Given the description of an element on the screen output the (x, y) to click on. 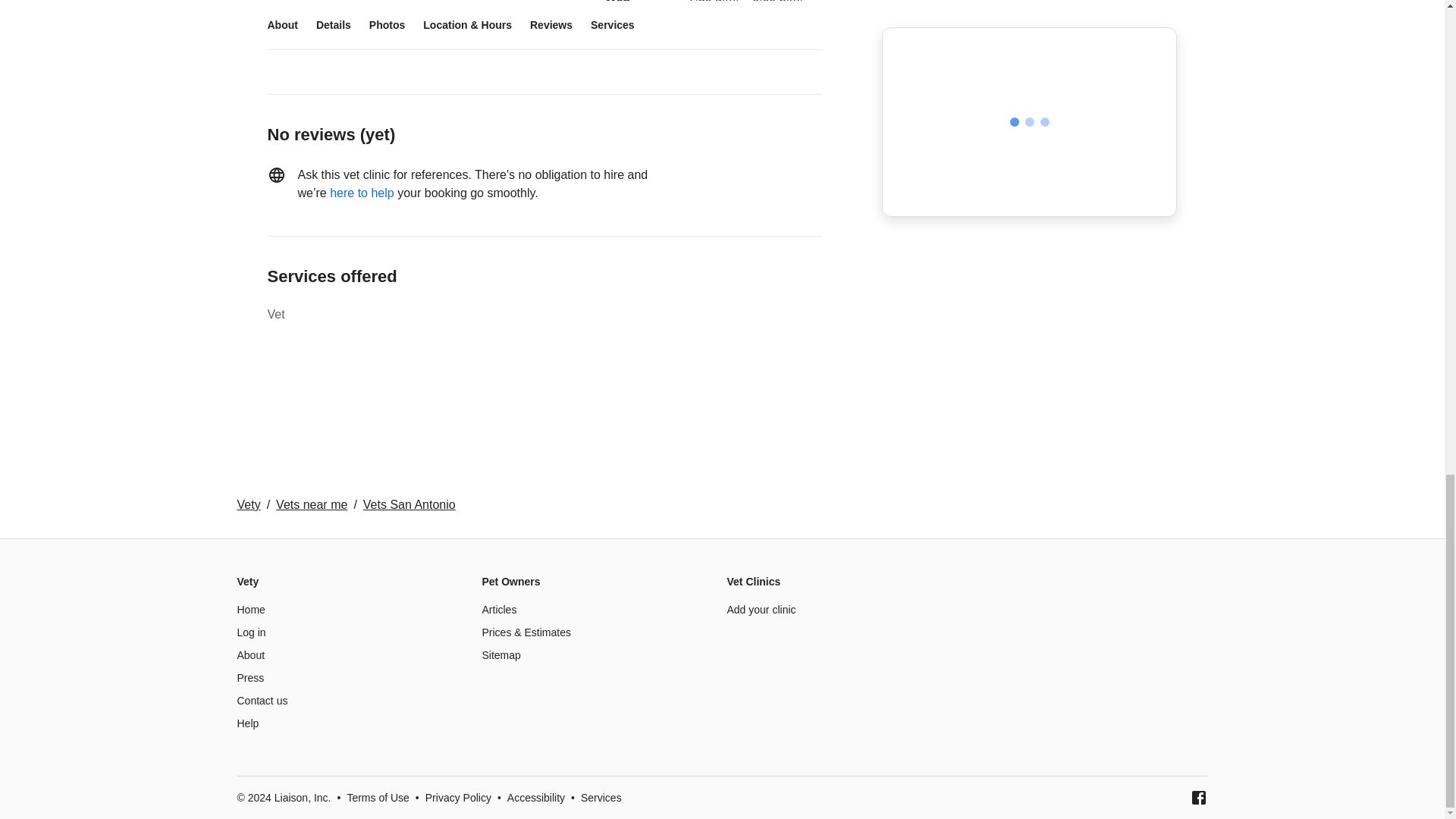
Contact us (260, 700)
Facebook (1198, 797)
Sitemap (501, 654)
Vets near me (311, 504)
here to help (362, 192)
About (249, 654)
Home (249, 609)
Articles (498, 609)
Help (247, 723)
Press (249, 677)
Log in (249, 632)
Vety (247, 504)
Add your clinic (760, 609)
Vets San Antonio (408, 504)
